Given the description of an element on the screen output the (x, y) to click on. 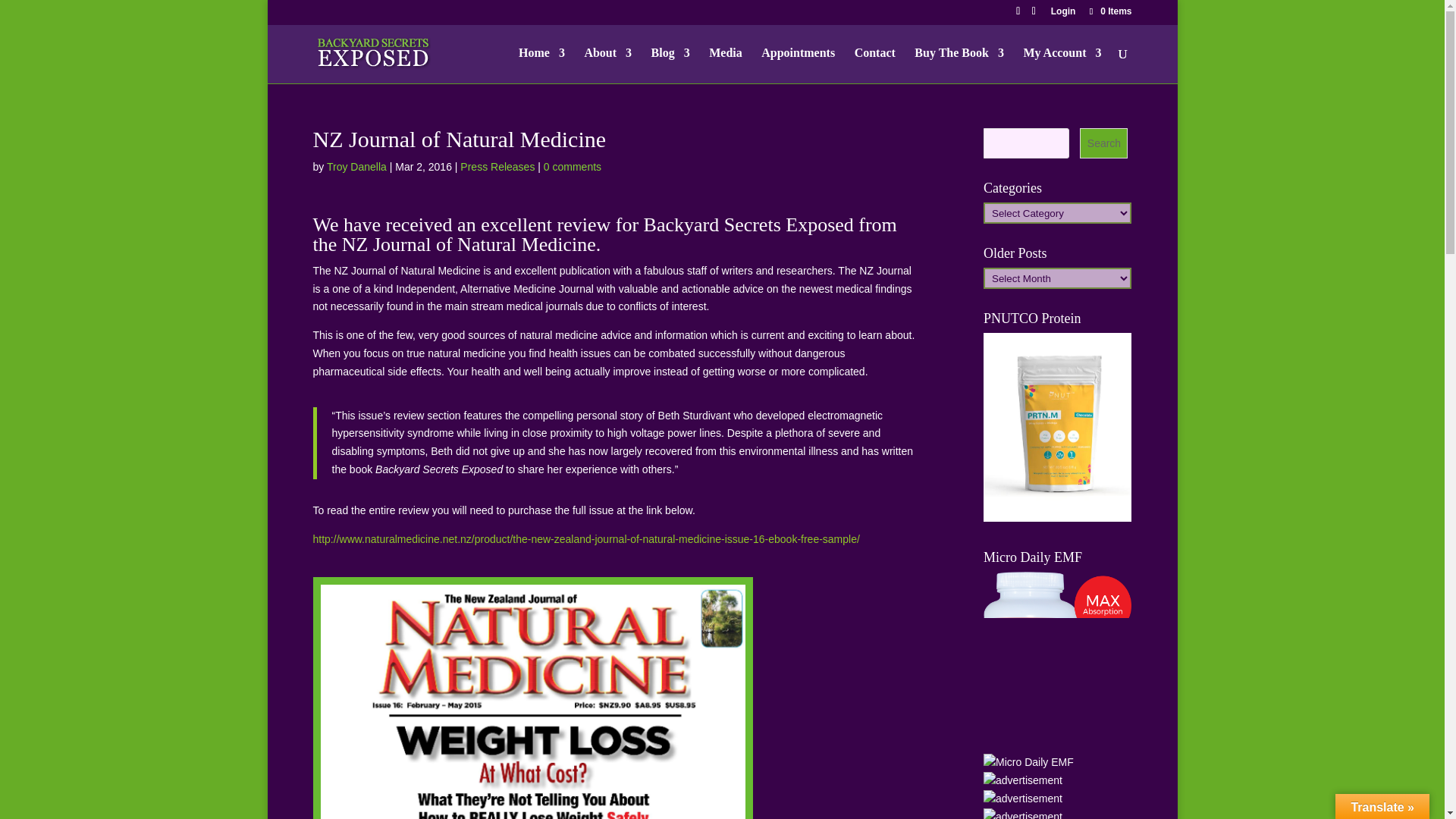
Appointments (797, 65)
Home (541, 65)
About (607, 65)
My Account (1061, 65)
Buy The Book (959, 65)
About (607, 65)
Press Releases (497, 166)
Login (1063, 14)
Login (1063, 14)
Contact (874, 65)
